Given the description of an element on the screen output the (x, y) to click on. 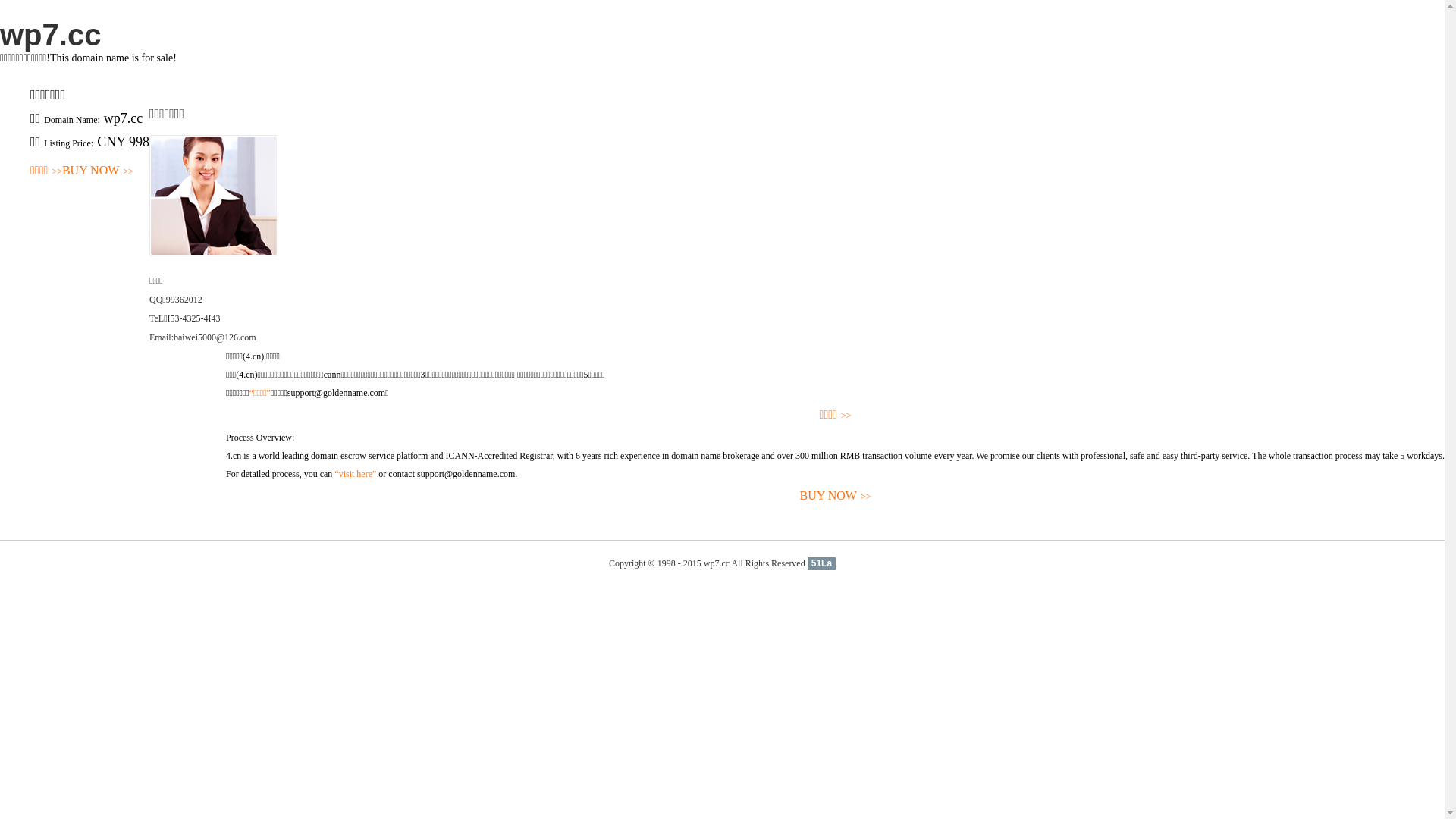
BUY NOW>> Element type: text (834, 496)
51La Element type: text (821, 563)
BUY NOW>> Element type: text (97, 170)
